Given the description of an element on the screen output the (x, y) to click on. 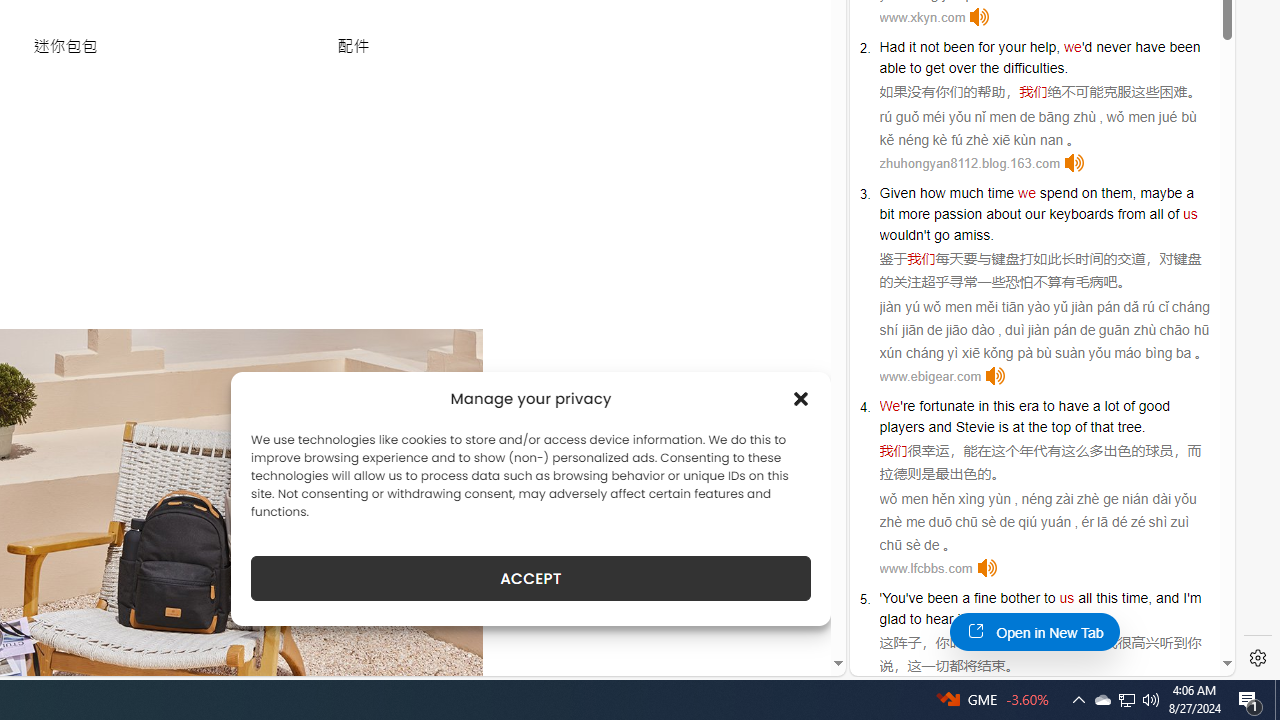
from (1131, 213)
maybe (1161, 192)
Class: cmplz-close (801, 398)
glad (892, 619)
over (962, 67)
